Given the description of an element on the screen output the (x, y) to click on. 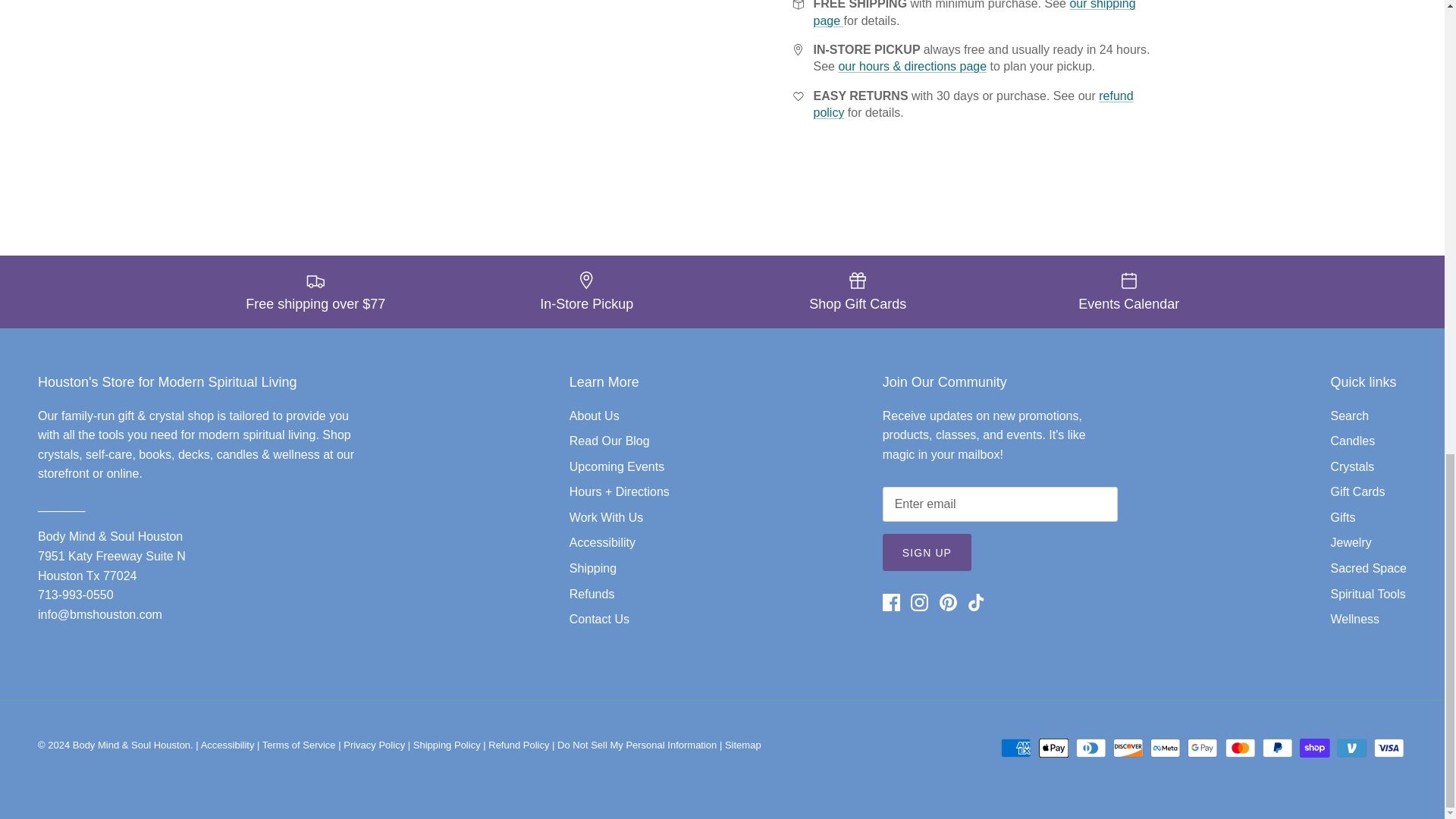
Our Shipping Policy (973, 13)
Discover (1127, 747)
American Express (1015, 747)
Apple Pay (1053, 747)
Diners Club (1090, 747)
Facebook (890, 601)
Refund Policy (972, 103)
Instagram (919, 601)
Pinterest (947, 601)
